Given the description of an element on the screen output the (x, y) to click on. 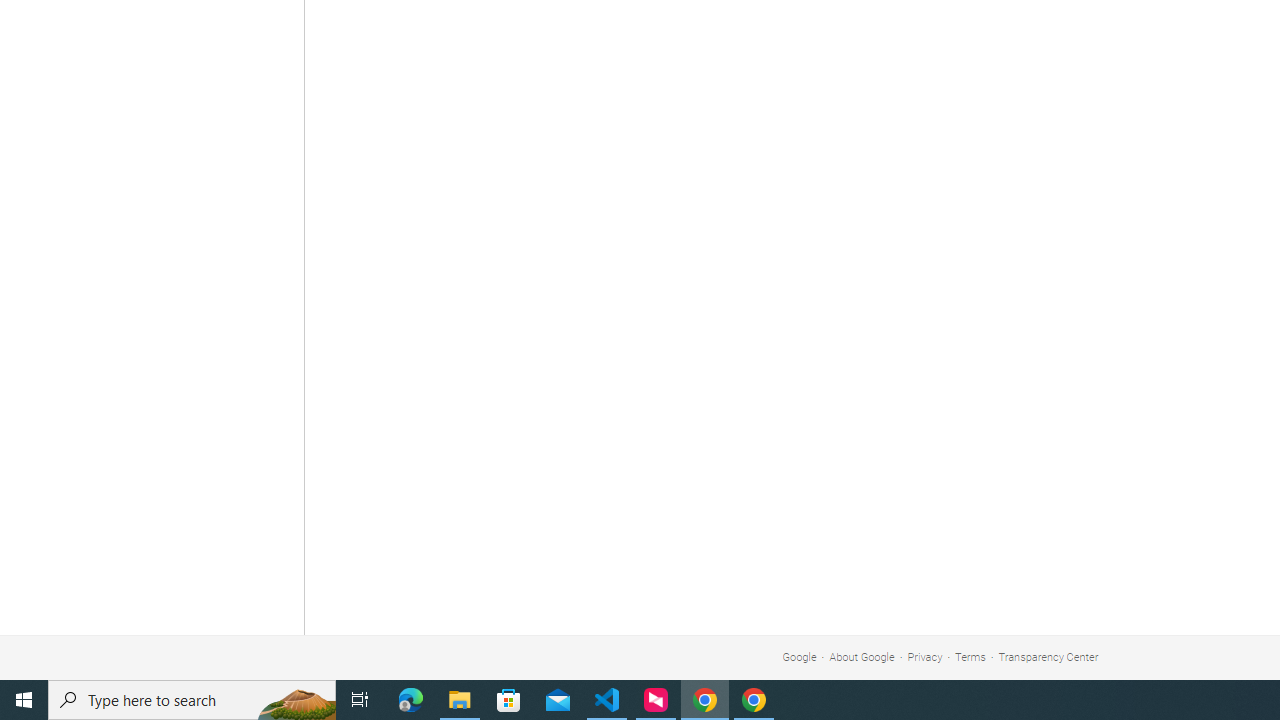
About Google (861, 656)
Transparency Center (1048, 656)
